Given the description of an element on the screen output the (x, y) to click on. 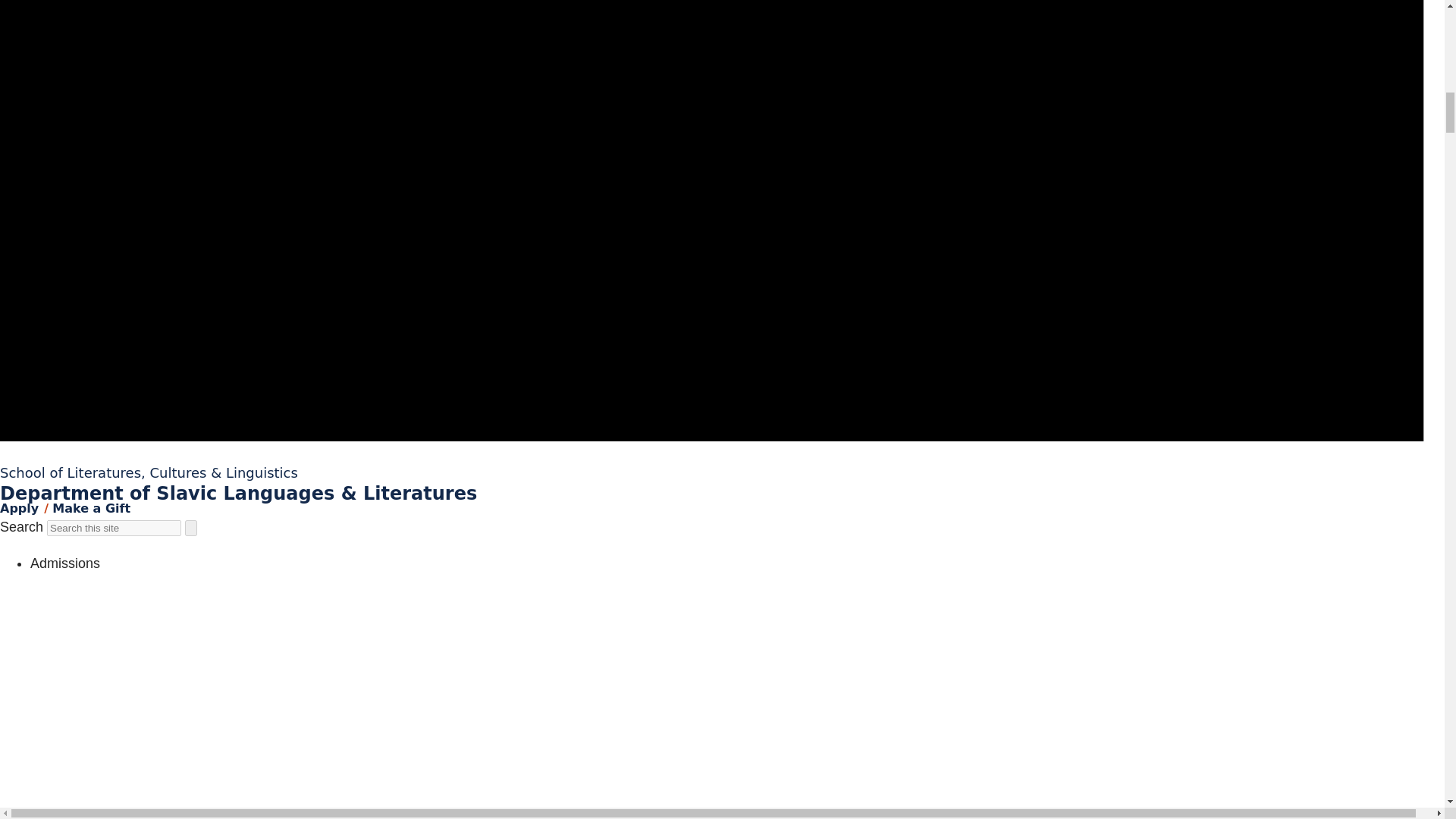
Apply (19, 508)
Admissions (65, 563)
Make a Gift (91, 508)
